Given the description of an element on the screen output the (x, y) to click on. 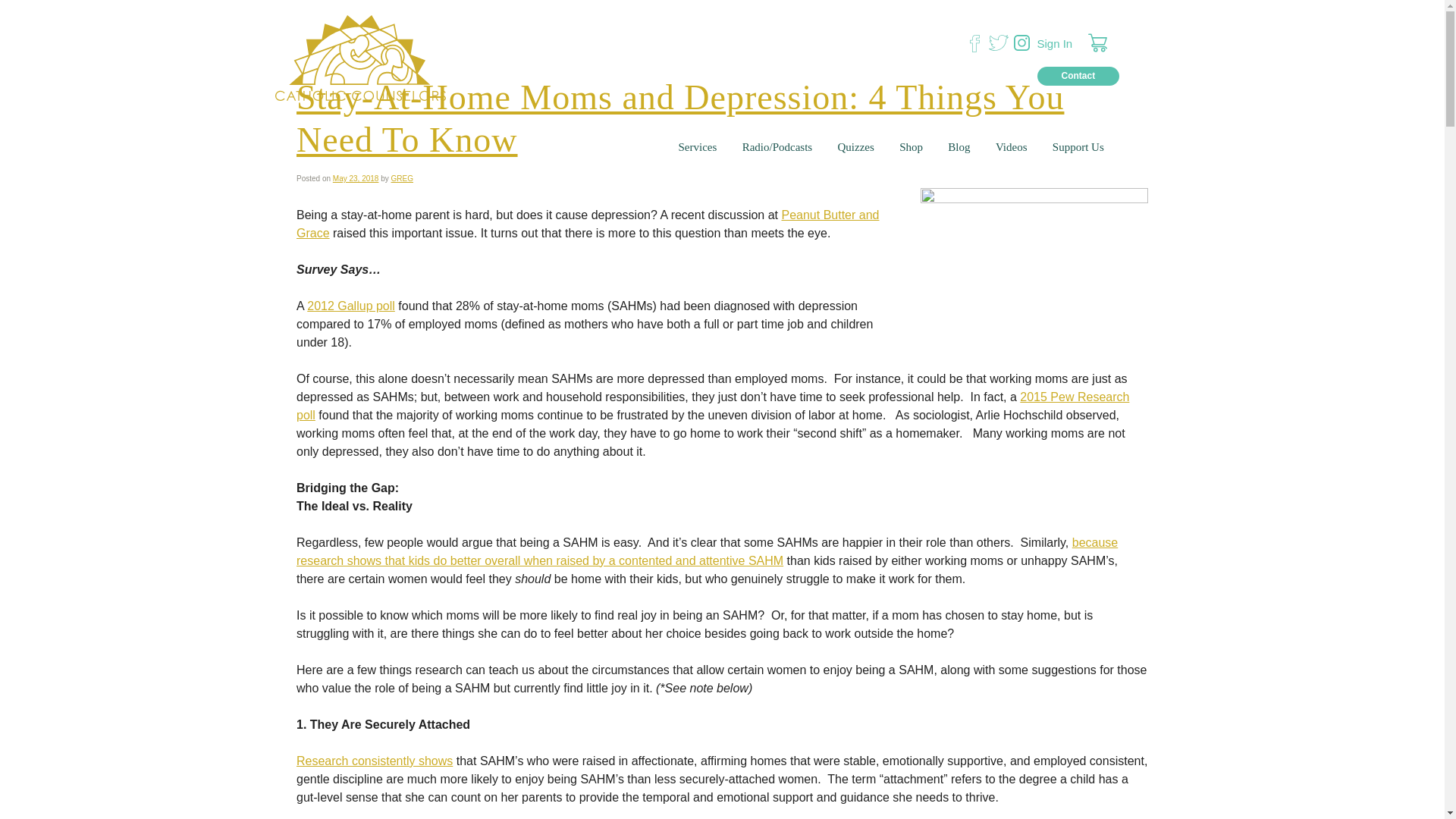
Shop (911, 147)
Sign In (1054, 42)
Videos (1011, 147)
Quizzes (856, 147)
Contact (1077, 75)
8:32 am (355, 178)
View all posts by GREG (402, 178)
Blog (958, 147)
Services (697, 147)
